Given the description of an element on the screen output the (x, y) to click on. 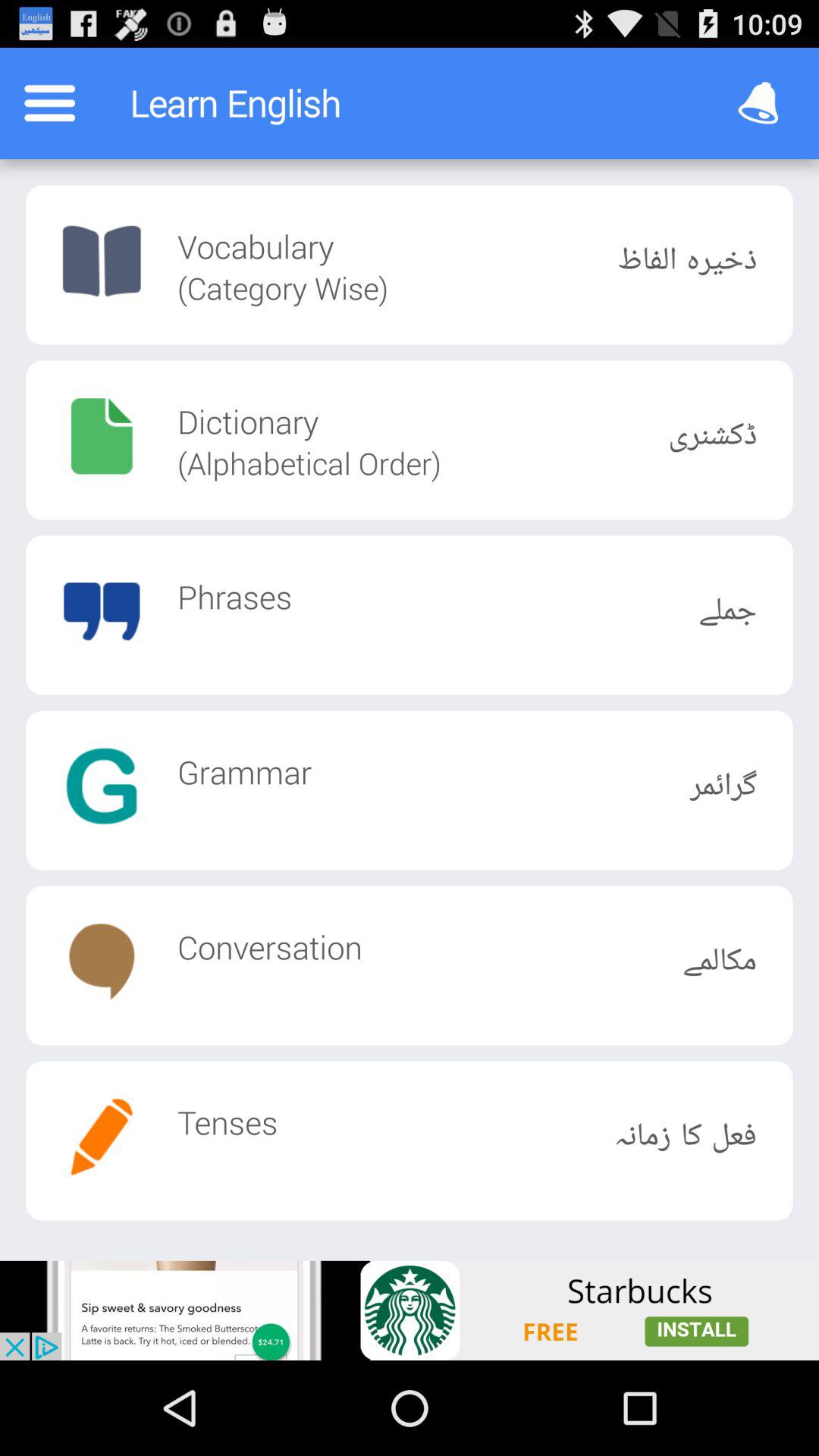
go to advertising site (409, 1310)
